Given the description of an element on the screen output the (x, y) to click on. 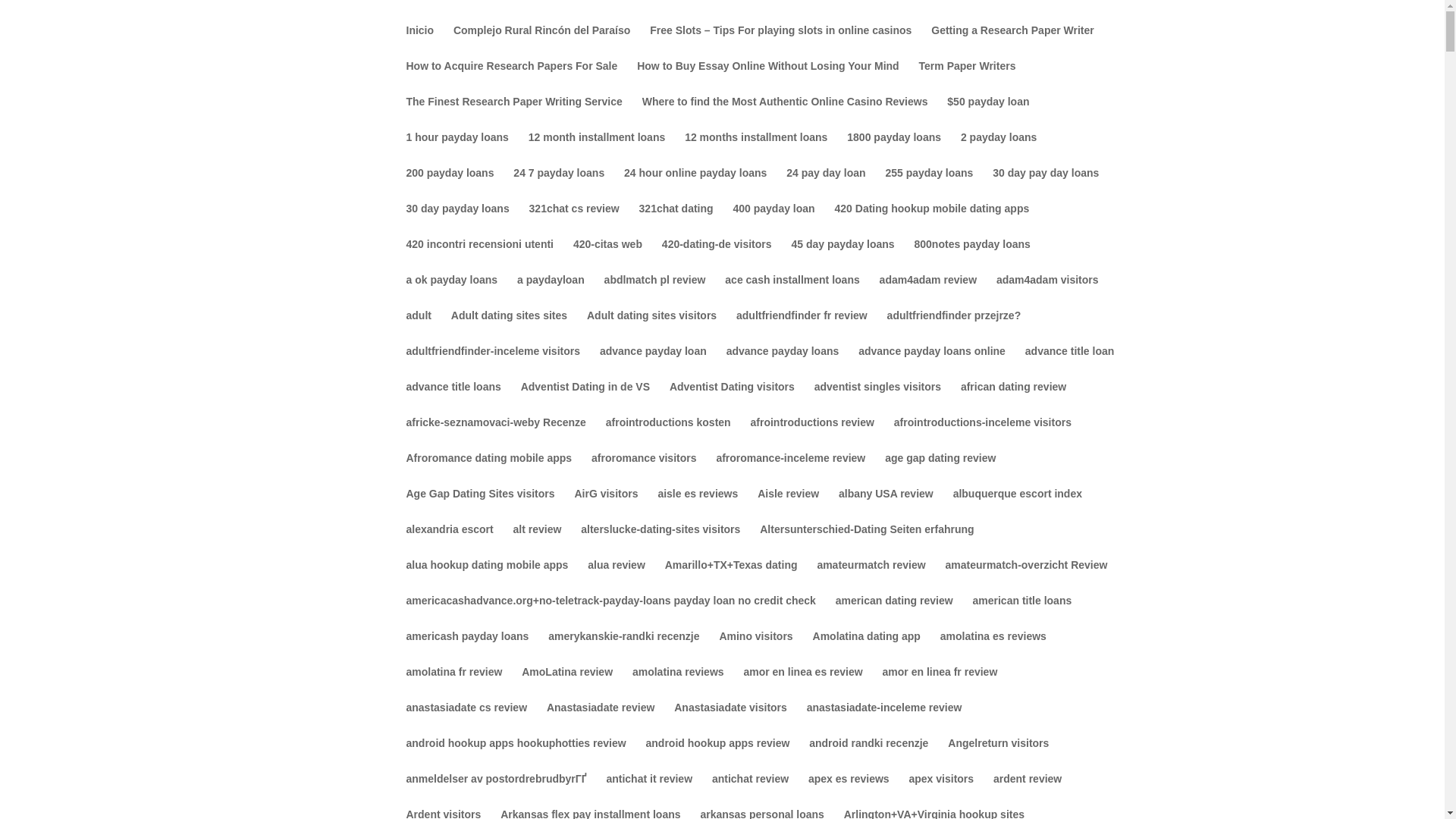
Adult dating sites sites (509, 327)
adam4adam review (927, 292)
420 incontri recensioni utenti (480, 256)
1800 payday loans (893, 149)
24 hour online payday loans (695, 185)
420-citas web (607, 256)
30 day payday loans (457, 221)
24 7 payday loans (558, 185)
Term Paper Writers (967, 78)
12 month installment loans (596, 149)
24 pay day loan (825, 185)
Getting a Research Paper Writer (1012, 42)
How to Acquire Research Papers For Sale (511, 78)
adam4adam visitors (1047, 292)
The Finest Research Paper Writing Service (514, 113)
